Given the description of an element on the screen output the (x, y) to click on. 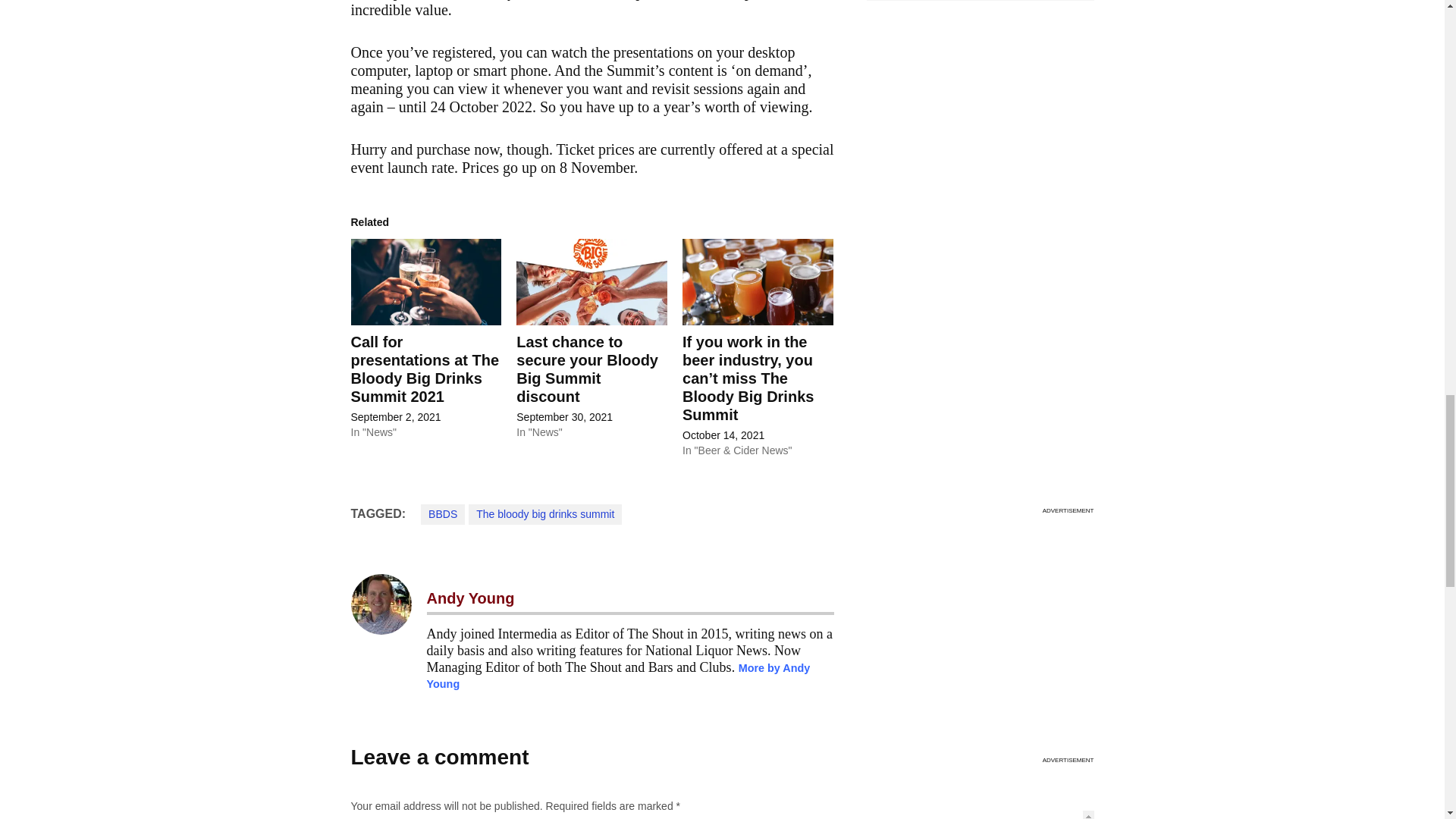
Last chance to secure your Bloody Big Summit discount (591, 282)
Call for presentations at The Bloody Big Drinks Summit 2021 (425, 282)
3rd party ad content (979, 656)
Call for presentations at The Bloody Big Drinks Summit 2021 (424, 368)
Last chance to secure your Bloody Big Summit discount (587, 368)
